Given the description of an element on the screen output the (x, y) to click on. 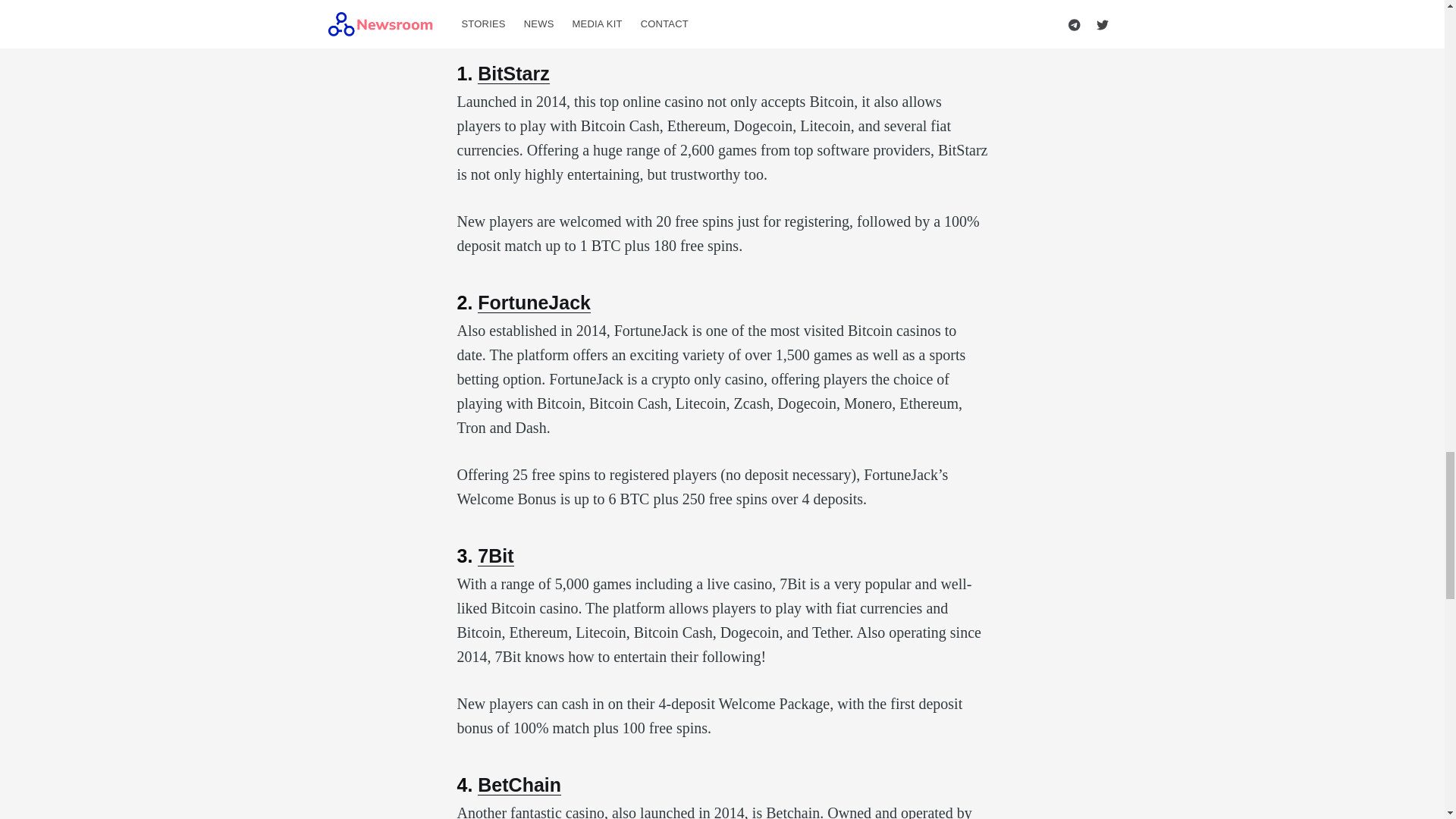
BitStarz (512, 73)
7Bit (495, 555)
FortuneJack (534, 301)
BetChain (518, 784)
